Given the description of an element on the screen output the (x, y) to click on. 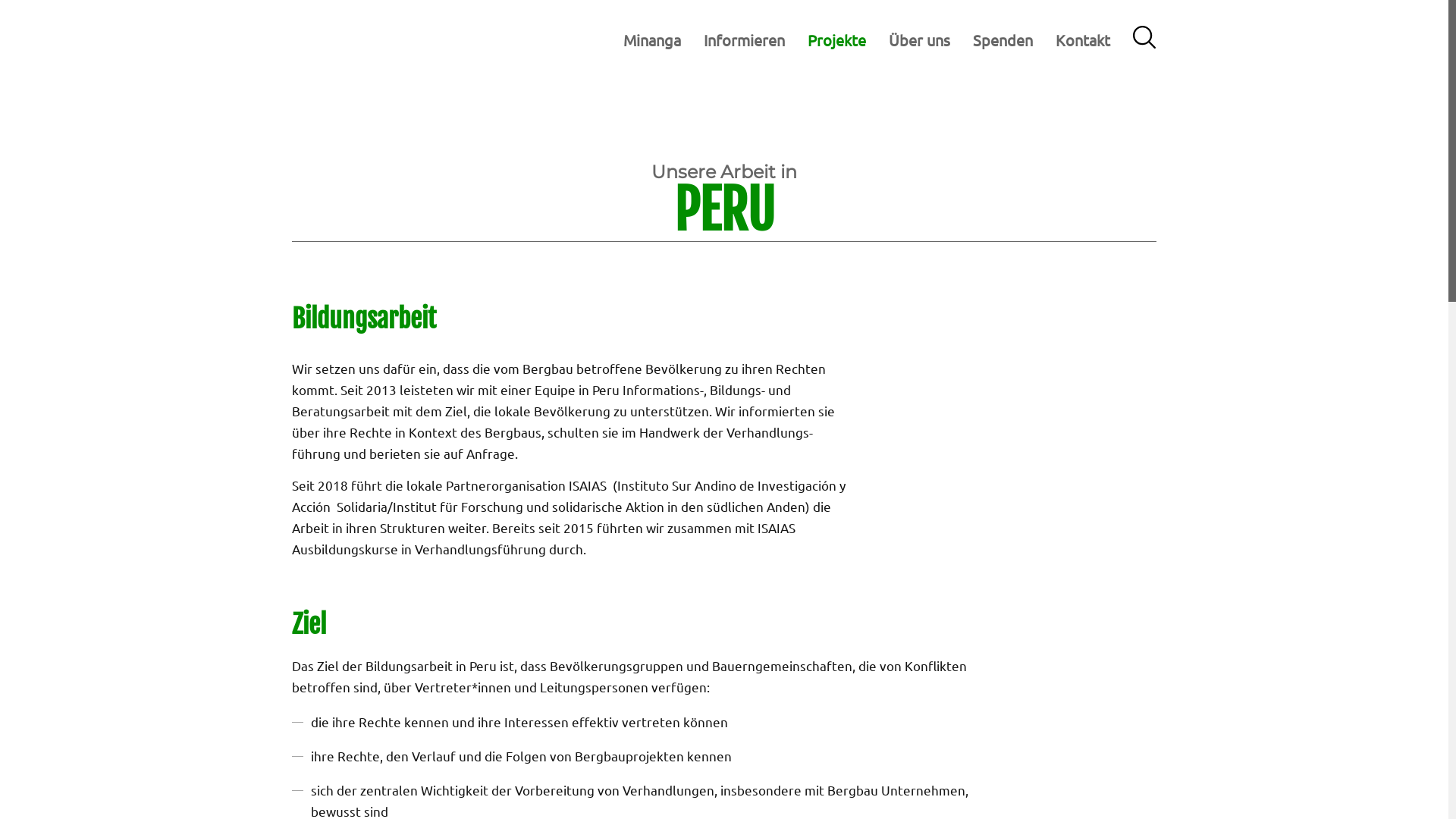
Projekte Element type: text (836, 40)
Informieren Element type: text (743, 40)
Bergbau-Menschen-Rechte - Logo Element type: text (358, 40)
Spenden Element type: text (1002, 40)
Bergbau-Menschen-Rechte - Suchen Button Element type: text (1143, 39)
Minanga Element type: text (651, 40)
Kontakt Element type: text (1082, 40)
